Given the description of an element on the screen output the (x, y) to click on. 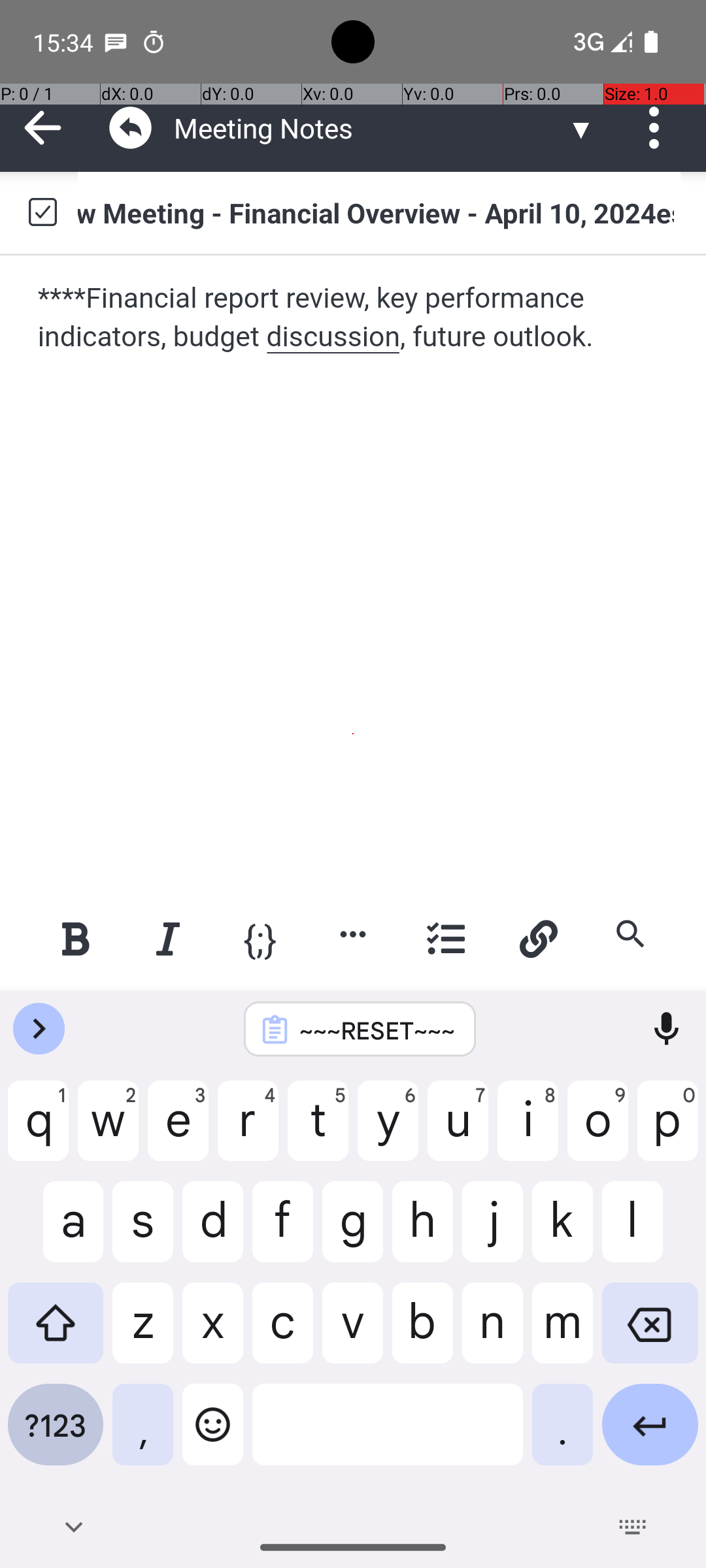
Board Meeting - Q1 Financial RQuarterly Review Meeting - Financial Overview - April 10, 2024esults - March 28, 2024 Element type: android.widget.EditText (378, 212)
****Financial report review, key performance indicators, budget discussion, future outlook. Element type: android.widget.EditText (354, 317)
